Given the description of an element on the screen output the (x, y) to click on. 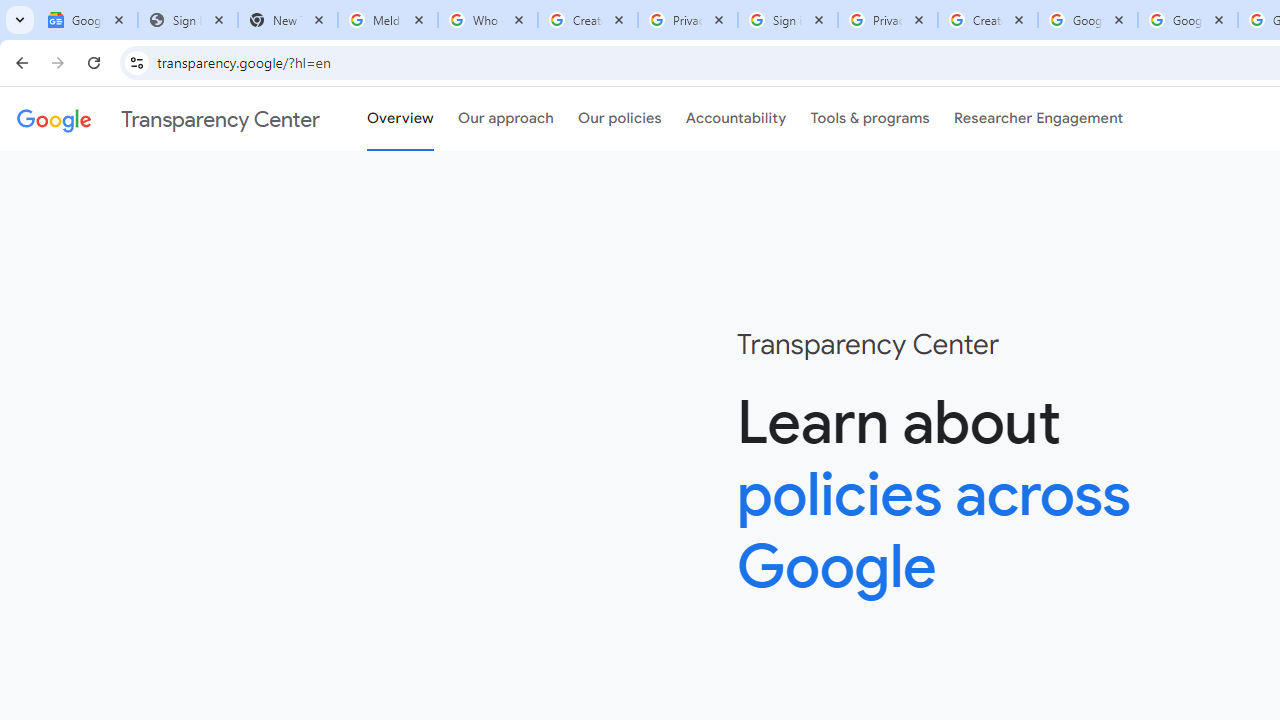
Our policies (619, 119)
Create your Google Account (587, 20)
New Tab (287, 20)
Transparency Center (167, 119)
Sign in - Google Accounts (788, 20)
Researcher Engagement (1038, 119)
